Given the description of an element on the screen output the (x, y) to click on. 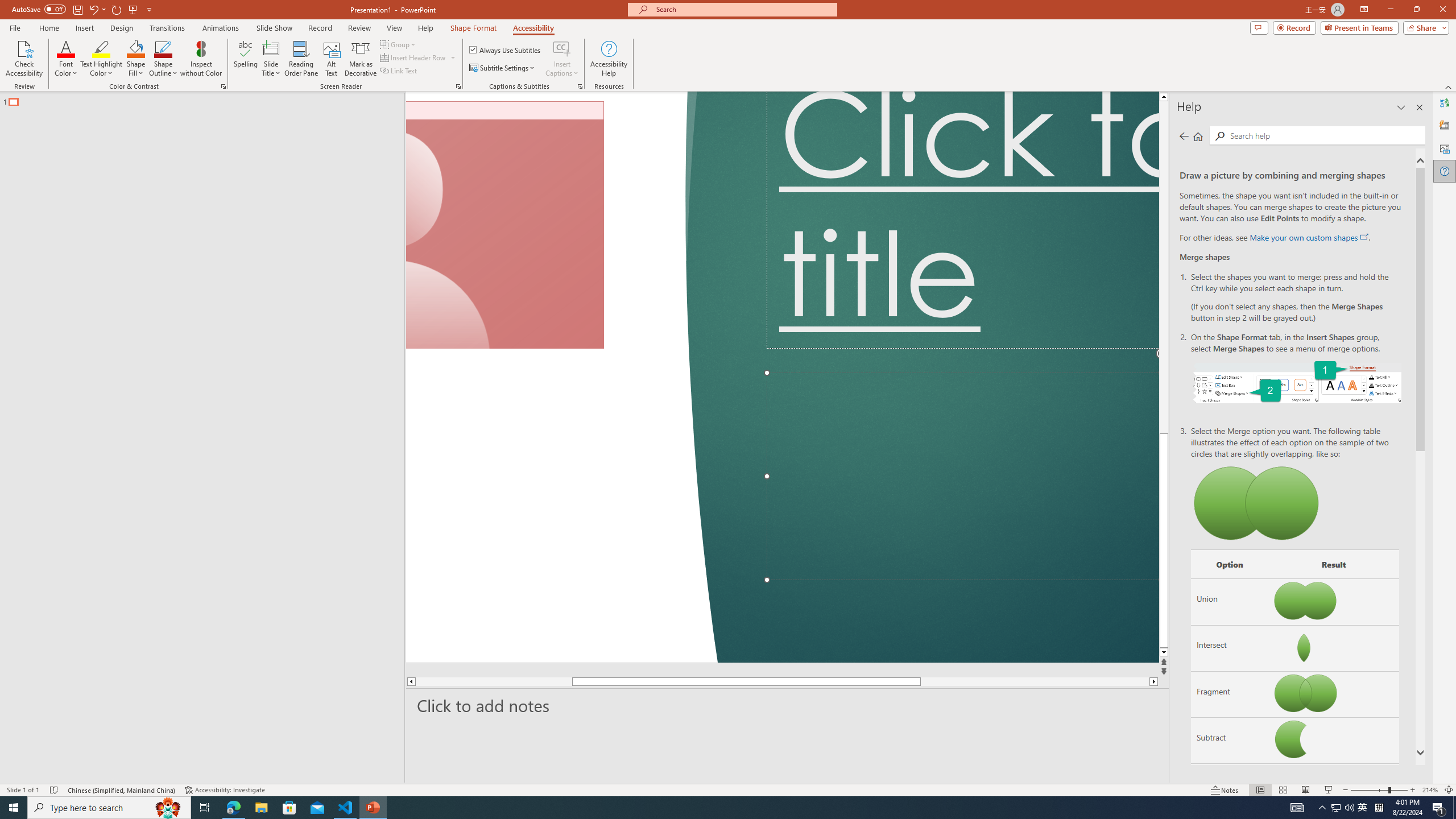
Combine (1229, 786)
Decorative Locked (561, 376)
